Given the description of an element on the screen output the (x, y) to click on. 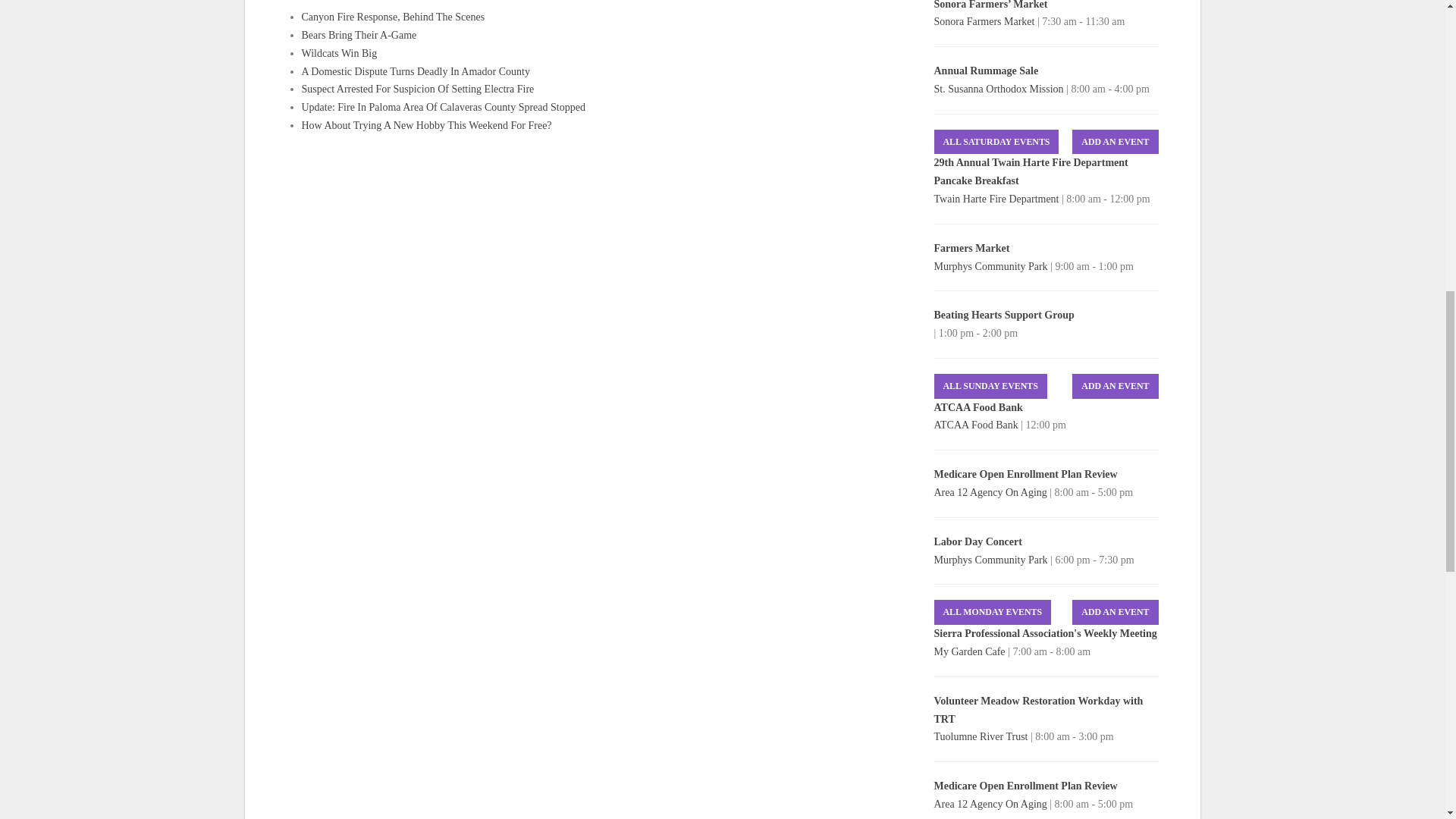
All Saturday Events (996, 141)
All Monday Events (992, 611)
Add An Event (1114, 141)
Add An Event (1114, 611)
All Sunday Events (990, 385)
Add An Event (1114, 385)
